Given the description of an element on the screen output the (x, y) to click on. 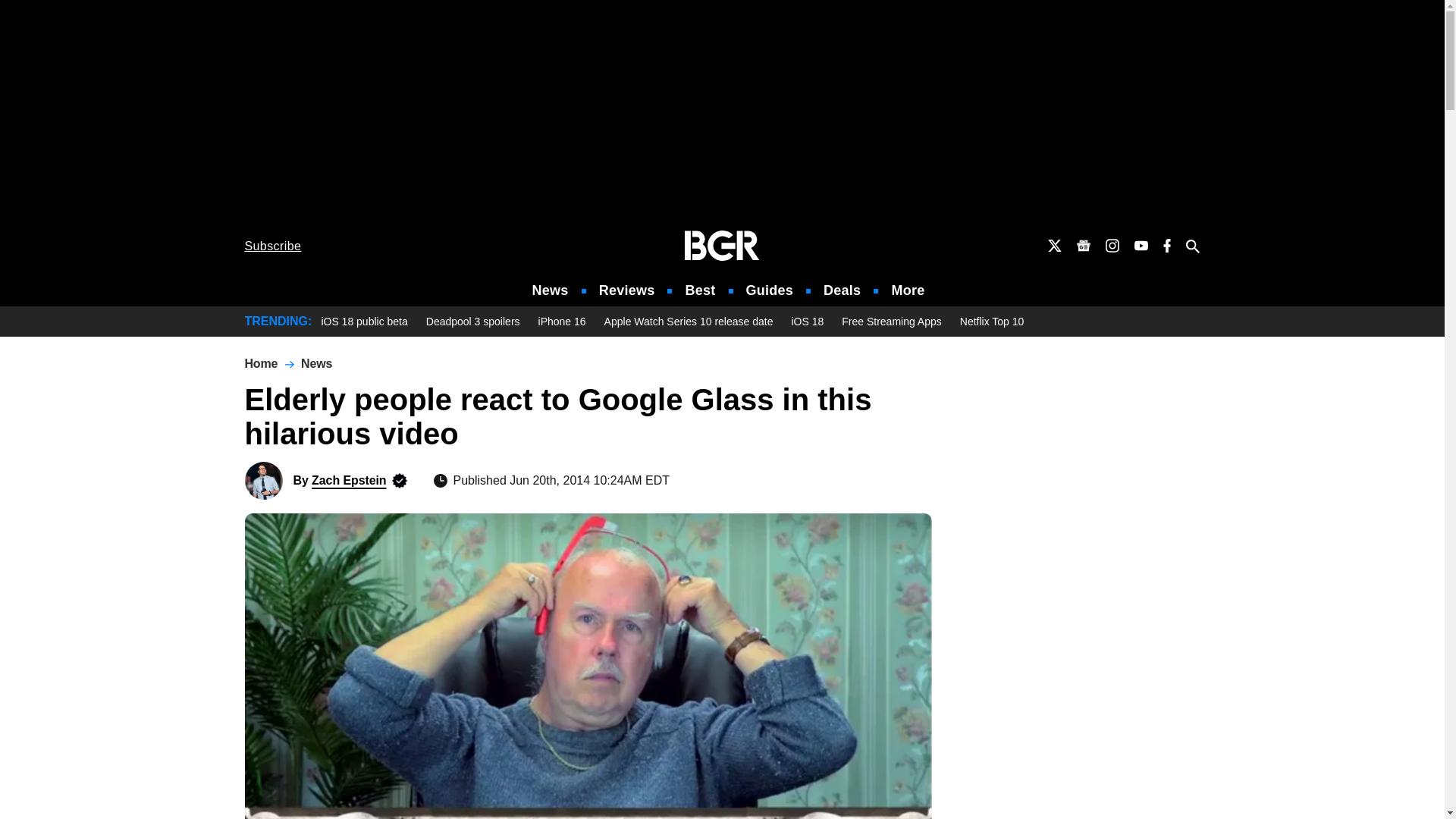
Posts by Zach Epstein (348, 480)
Guides (769, 290)
Reviews (626, 290)
Zach Epstein (263, 480)
Best (699, 290)
Subscribe (272, 245)
More (907, 290)
News (550, 290)
Deals (842, 290)
3rd party ad content (721, 113)
